Given the description of an element on the screen output the (x, y) to click on. 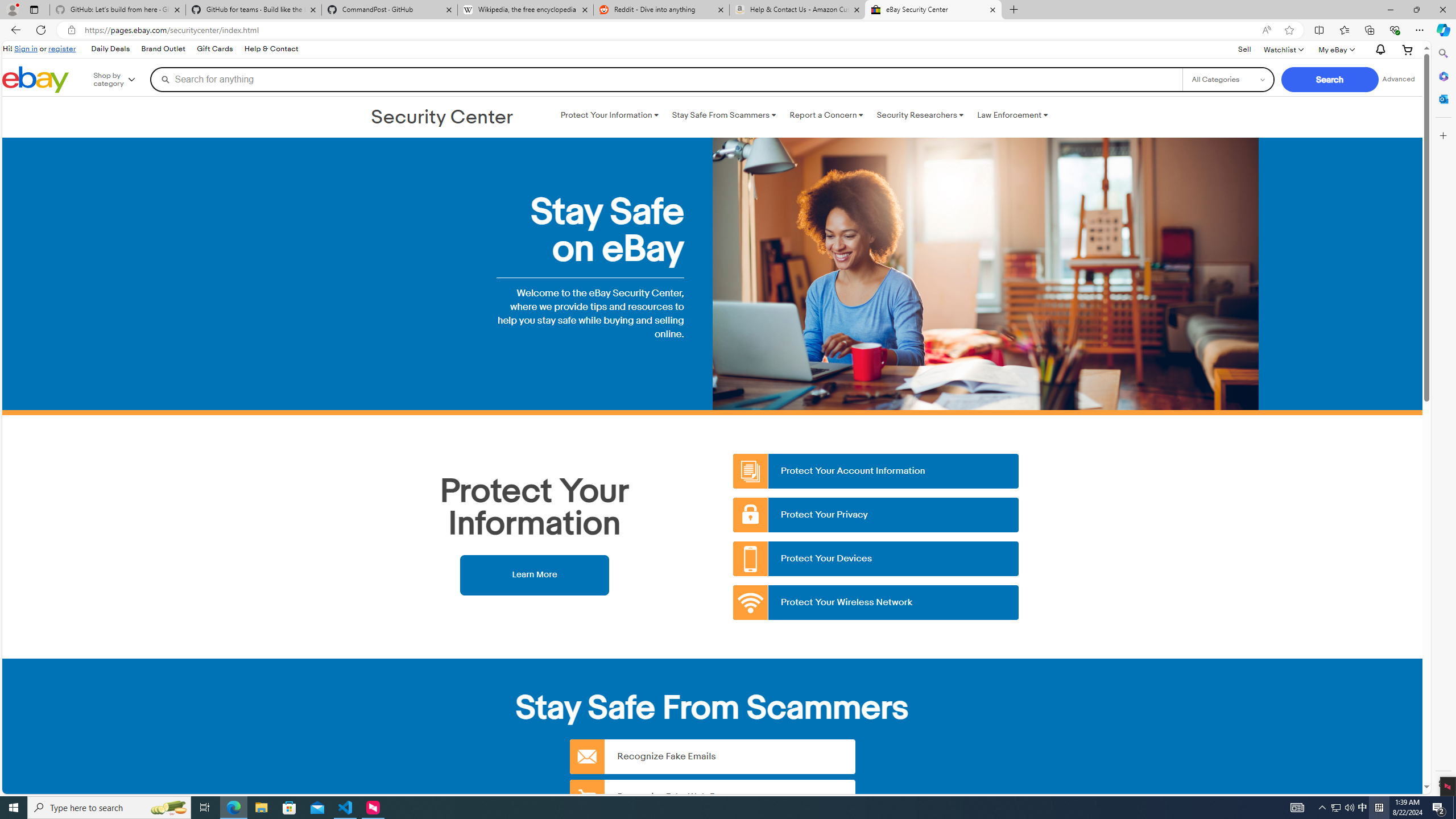
Watchlist (1282, 49)
Daily Deals (109, 49)
Report a Concern  (826, 115)
eBay Home (35, 79)
My eBayExpand My eBay (1335, 49)
Shop by category (122, 79)
Your shopping cart (1407, 49)
Law Enforcement  (1012, 115)
Gift Cards (214, 49)
